Given the description of an element on the screen output the (x, y) to click on. 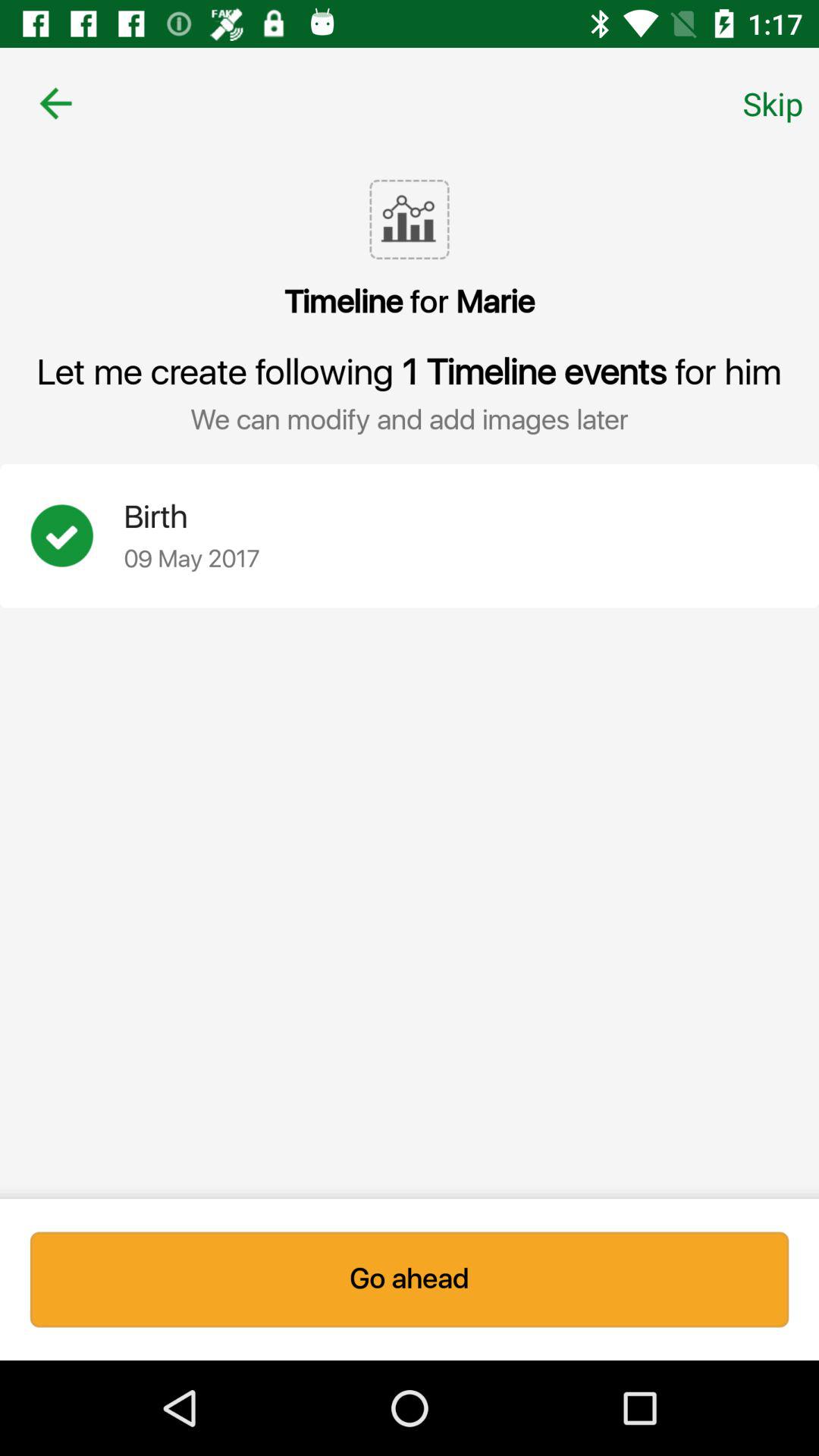
turn on icon above the timeline for marie (55, 103)
